Given the description of an element on the screen output the (x, y) to click on. 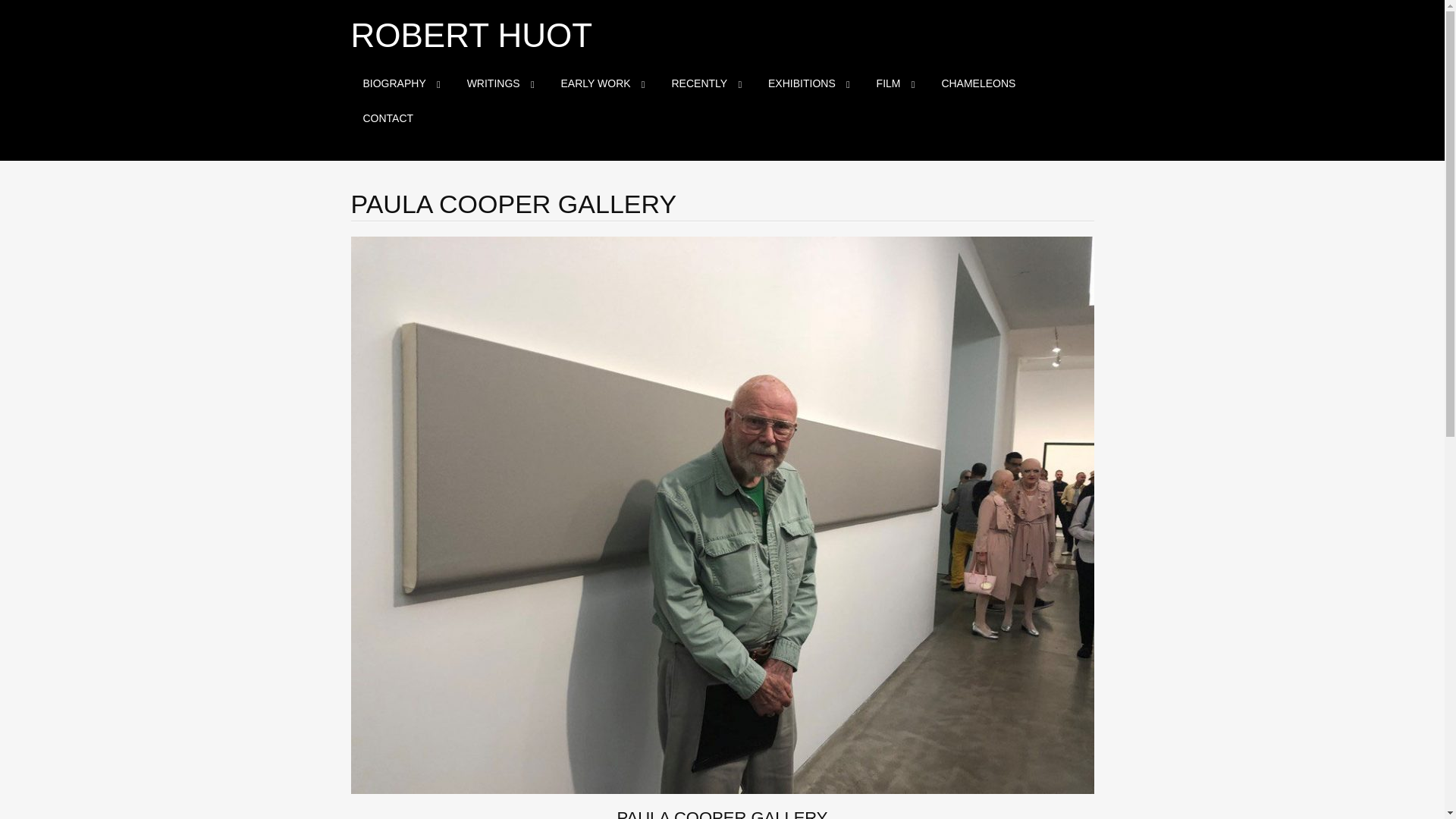
WRITINGS (500, 83)
EARLY WORK (602, 83)
ROBERT HUOT (471, 35)
RECENTLY (705, 83)
EXHIBITIONS (808, 83)
BIOGRAPHY (400, 83)
Skip to content (362, 75)
